Given the description of an element on the screen output the (x, y) to click on. 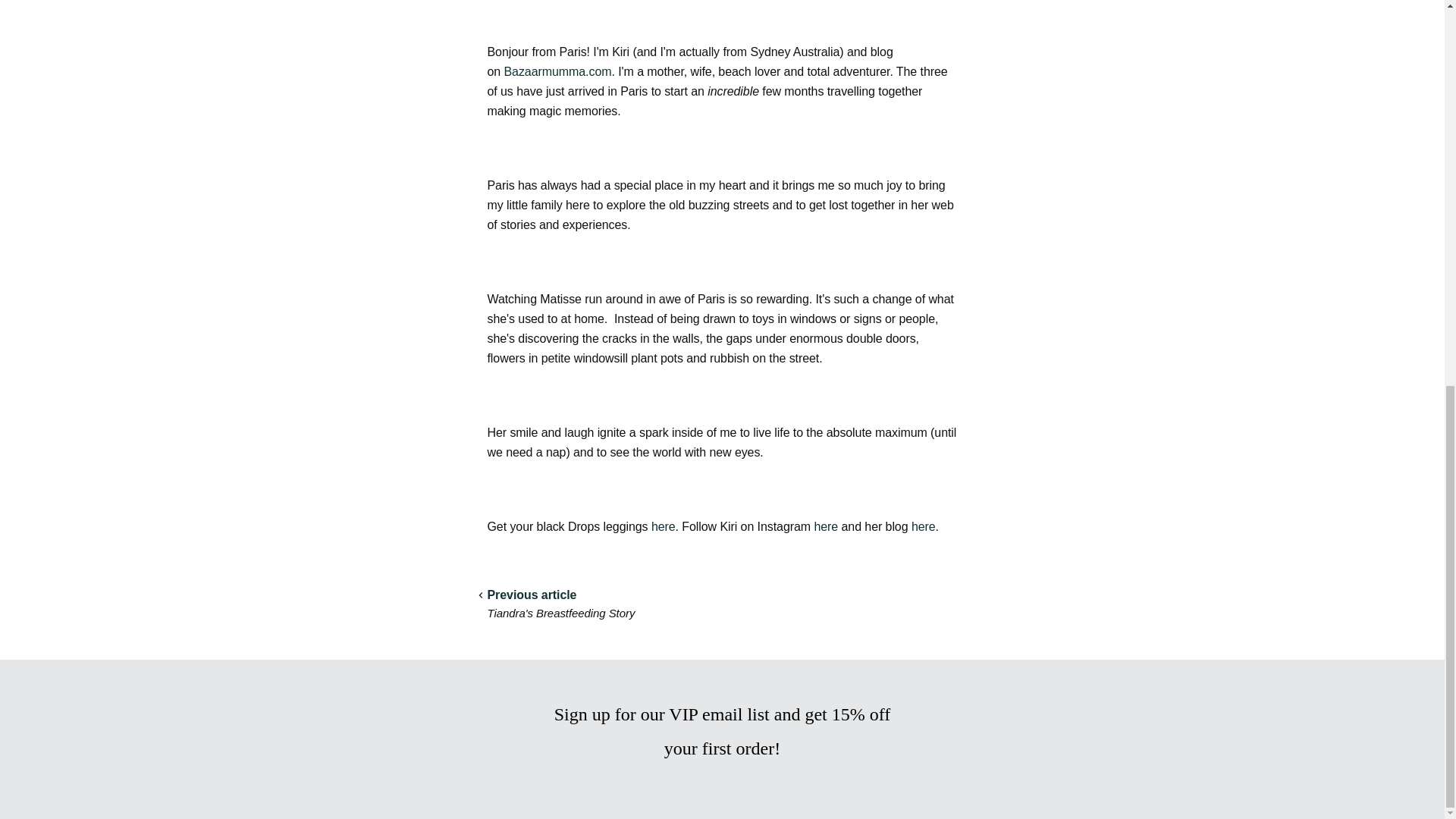
here (825, 526)
here (662, 526)
Bazaarmumma.com (557, 71)
here (923, 526)
